Given the description of an element on the screen output the (x, y) to click on. 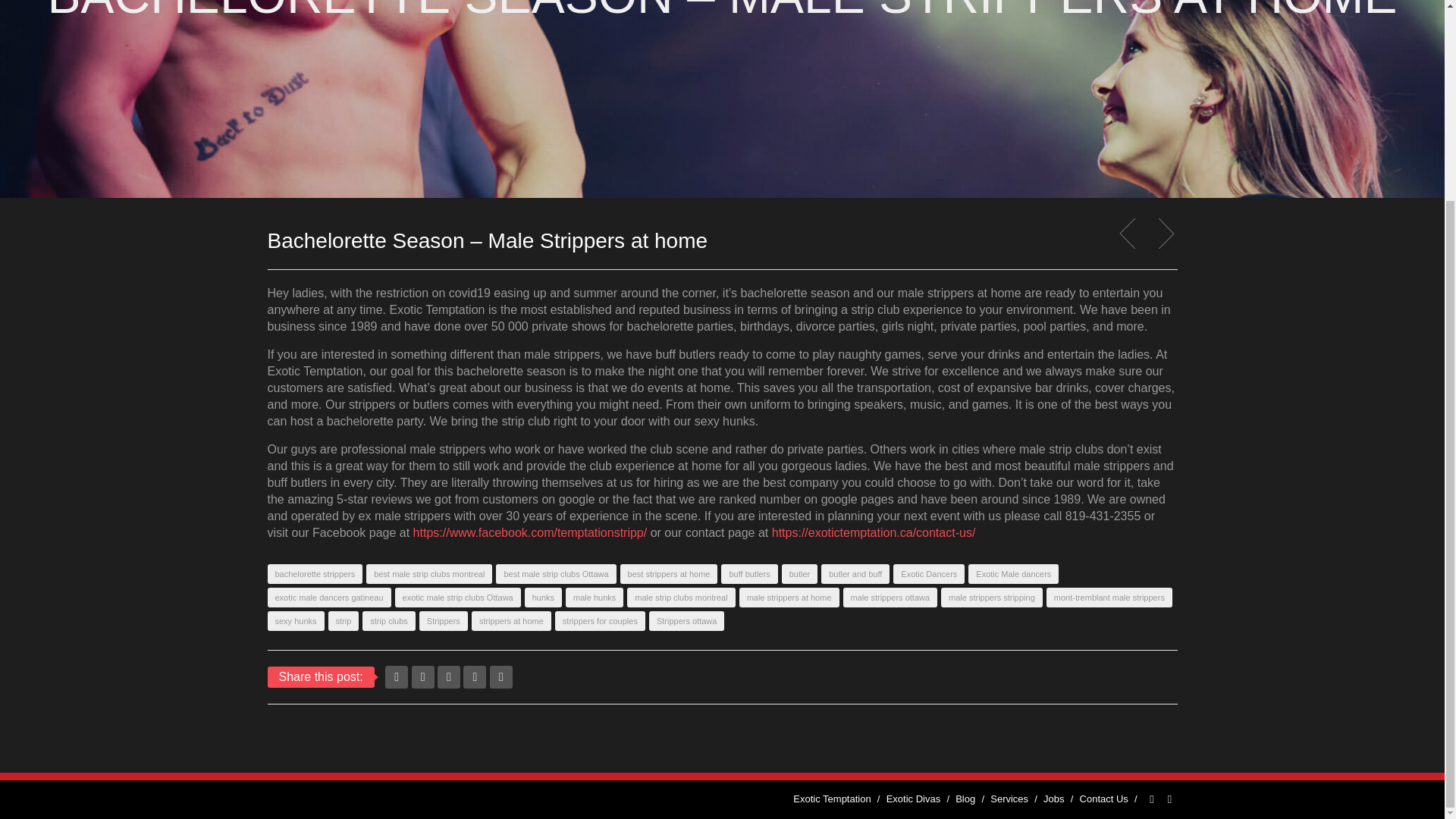
male strippers at home (789, 597)
buff butlers (748, 573)
male strip clubs montreal (681, 597)
best strippers at home (668, 573)
male strippers ottawa (890, 597)
Previous post (1131, 233)
male hunks (594, 597)
mont-tremblant male strippers (1109, 597)
butler and buff (855, 573)
butler (799, 573)
